Given the description of an element on the screen output the (x, y) to click on. 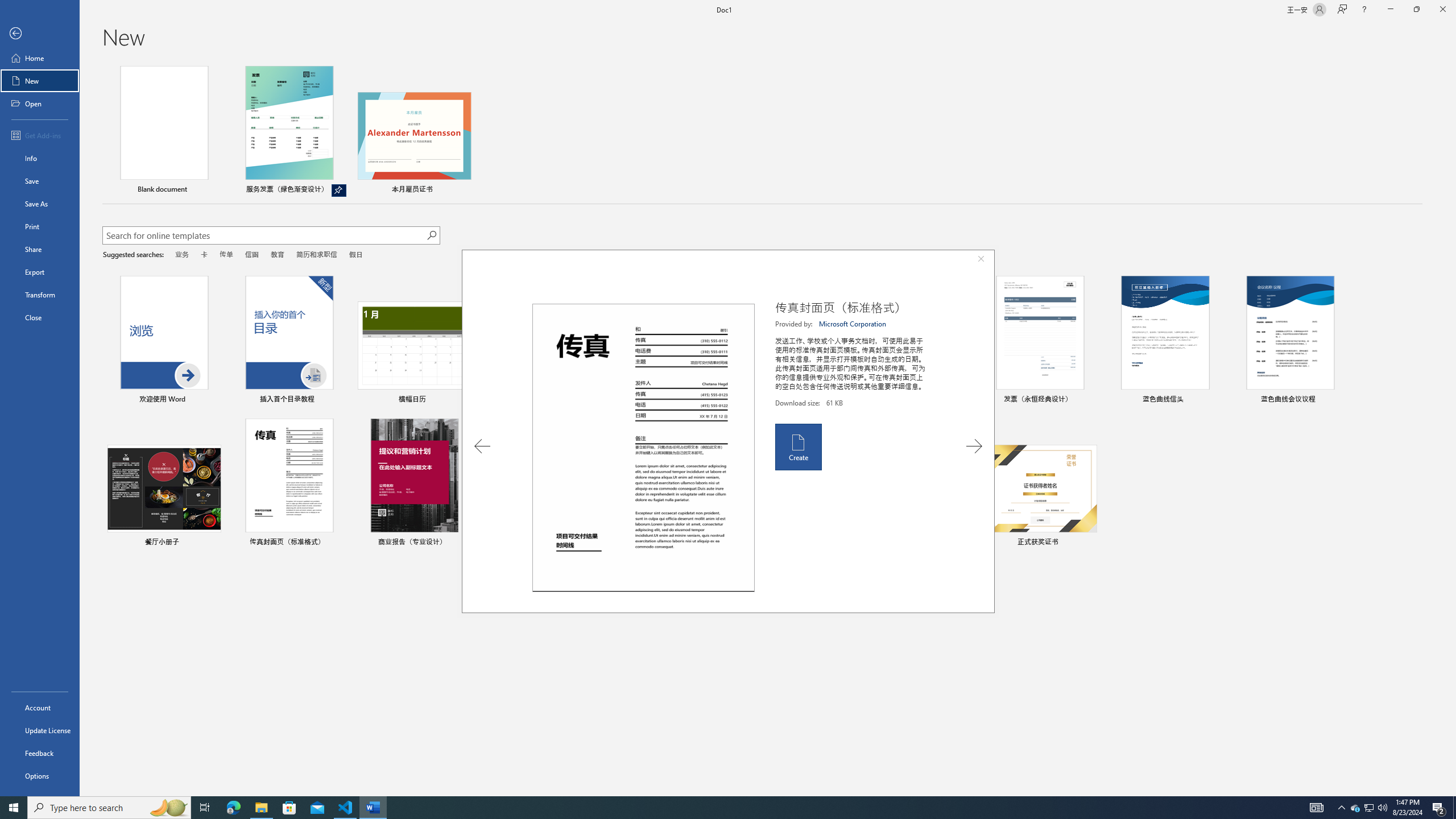
New (40, 80)
Print (40, 225)
Pin to list (1089, 543)
Options (40, 775)
Blank document (164, 131)
Previous Template (481, 446)
Create (797, 446)
Transform (40, 294)
